Given the description of an element on the screen output the (x, y) to click on. 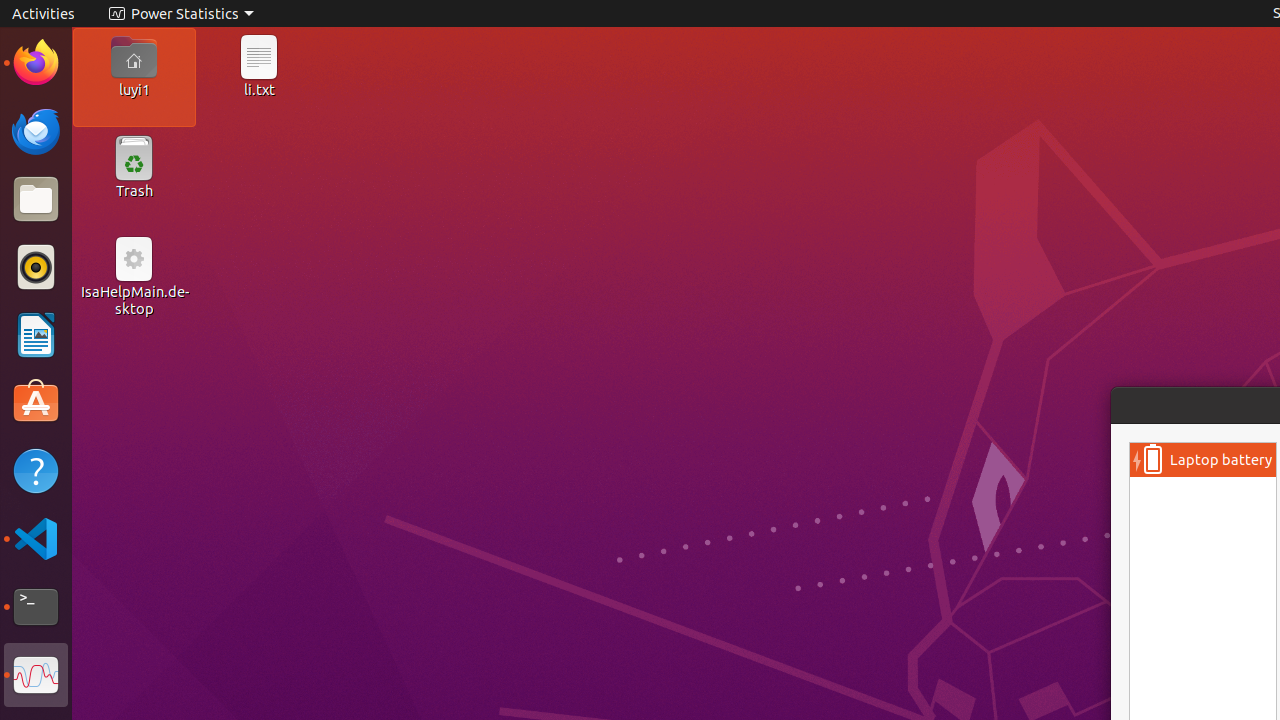
li.txt Element type: label (259, 89)
Activities Element type: label (43, 13)
Power Statistics Element type: push-button (36, 675)
